Given the description of an element on the screen output the (x, y) to click on. 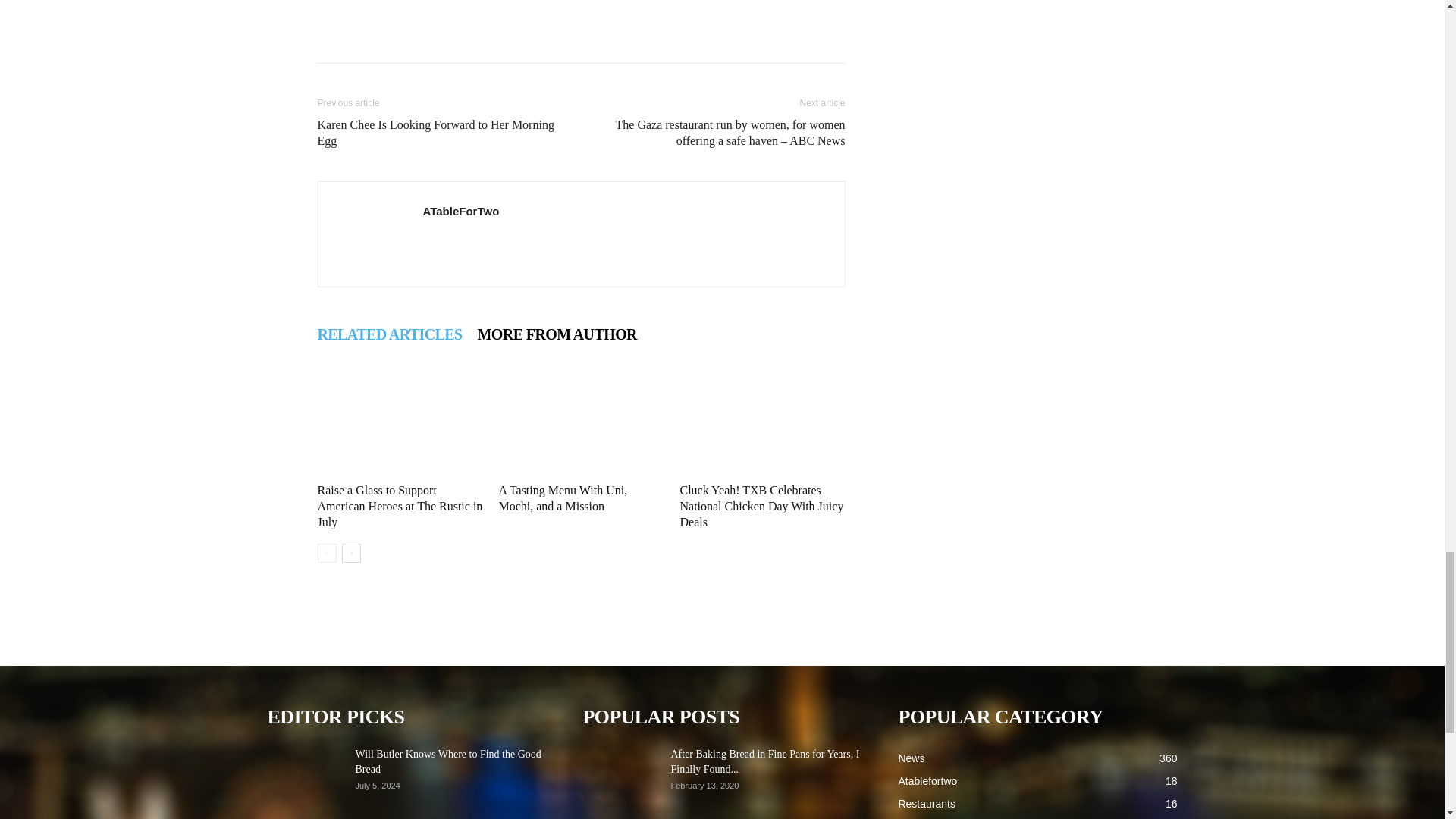
MORE FROM AUTHOR (557, 333)
RELATED ARTICLES (389, 333)
Will Butler Knows Where to Find the Good Bread (447, 761)
A Tasting Menu With Uni, Mochi, and a Mission (562, 498)
Will Butler Knows Where to Find the Good Bread (304, 773)
Karen Chee Is Looking Forward to Her Morning Egg (439, 132)
ATableForTwo (461, 210)
A Tasting Menu With Uni, Mochi, and a Mission (562, 498)
A Tasting Menu With Uni, Mochi, and a Mission (580, 420)
